Given the description of an element on the screen output the (x, y) to click on. 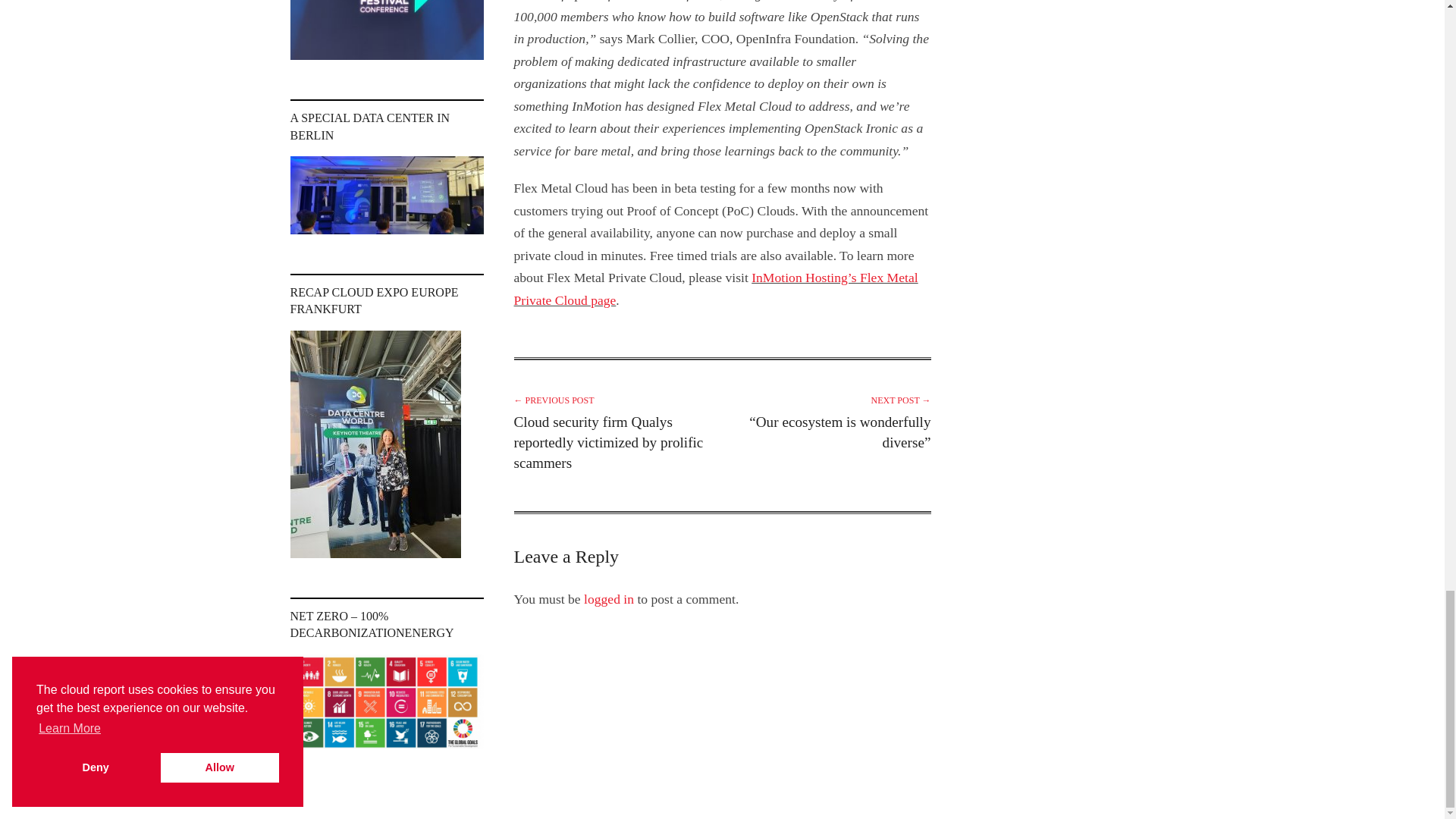
logged in (608, 598)
